Given the description of an element on the screen output the (x, y) to click on. 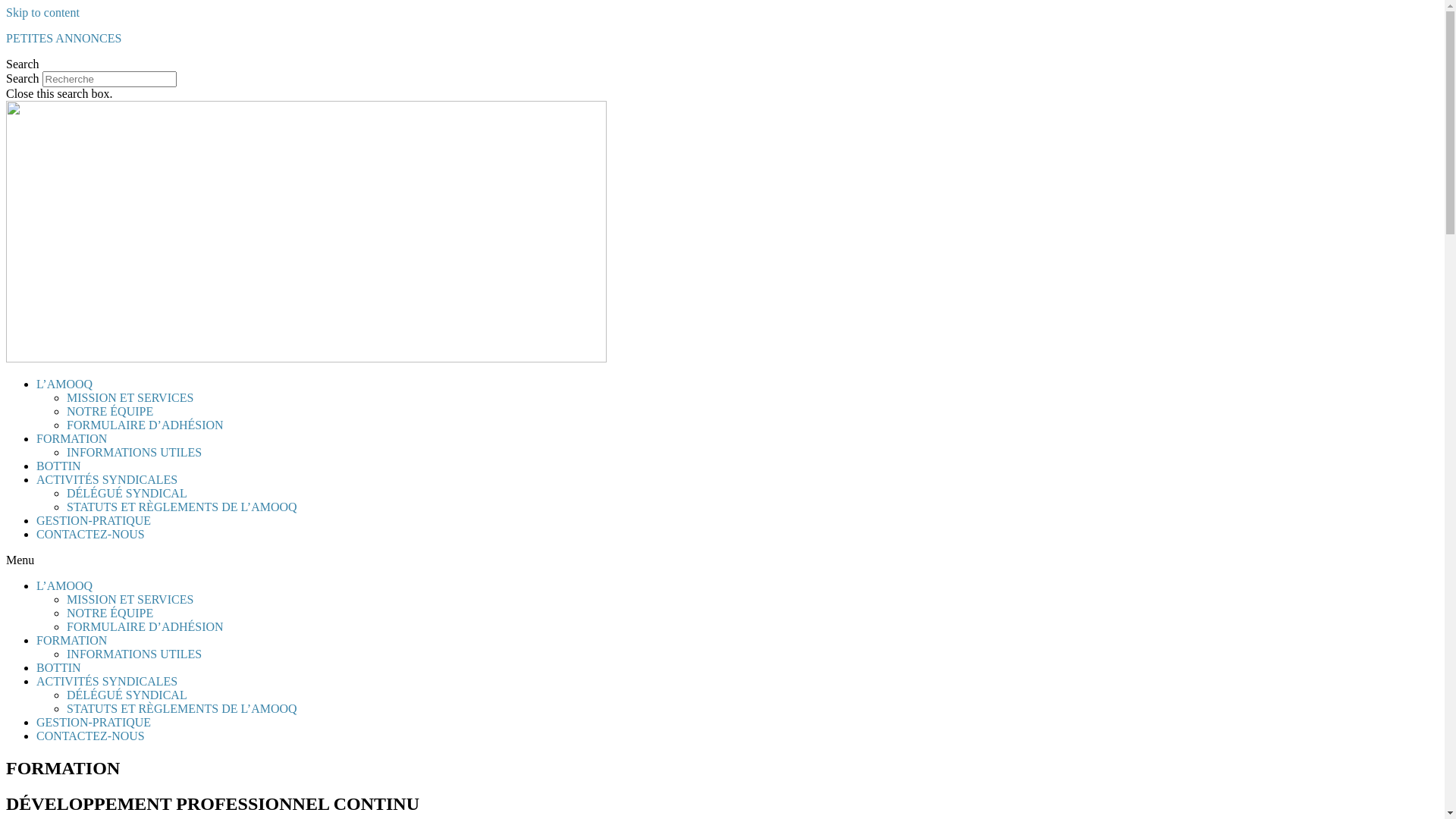
BOTTIN Element type: text (58, 667)
GESTION-PRATIQUE Element type: text (93, 721)
FORMATION Element type: text (71, 639)
CONTACTEZ-NOUS Element type: text (90, 735)
GESTION-PRATIQUE Element type: text (93, 520)
CONTACTEZ-NOUS Element type: text (90, 533)
INFORMATIONS UTILES Element type: text (133, 451)
INFORMATIONS UTILES Element type: text (133, 653)
PETITES ANNONCES Element type: text (63, 37)
BOTTIN Element type: text (58, 465)
Skip to content Element type: text (42, 12)
FORMATION Element type: text (71, 438)
MISSION ET SERVICES Element type: text (129, 599)
MISSION ET SERVICES Element type: text (129, 397)
